Given the description of an element on the screen output the (x, y) to click on. 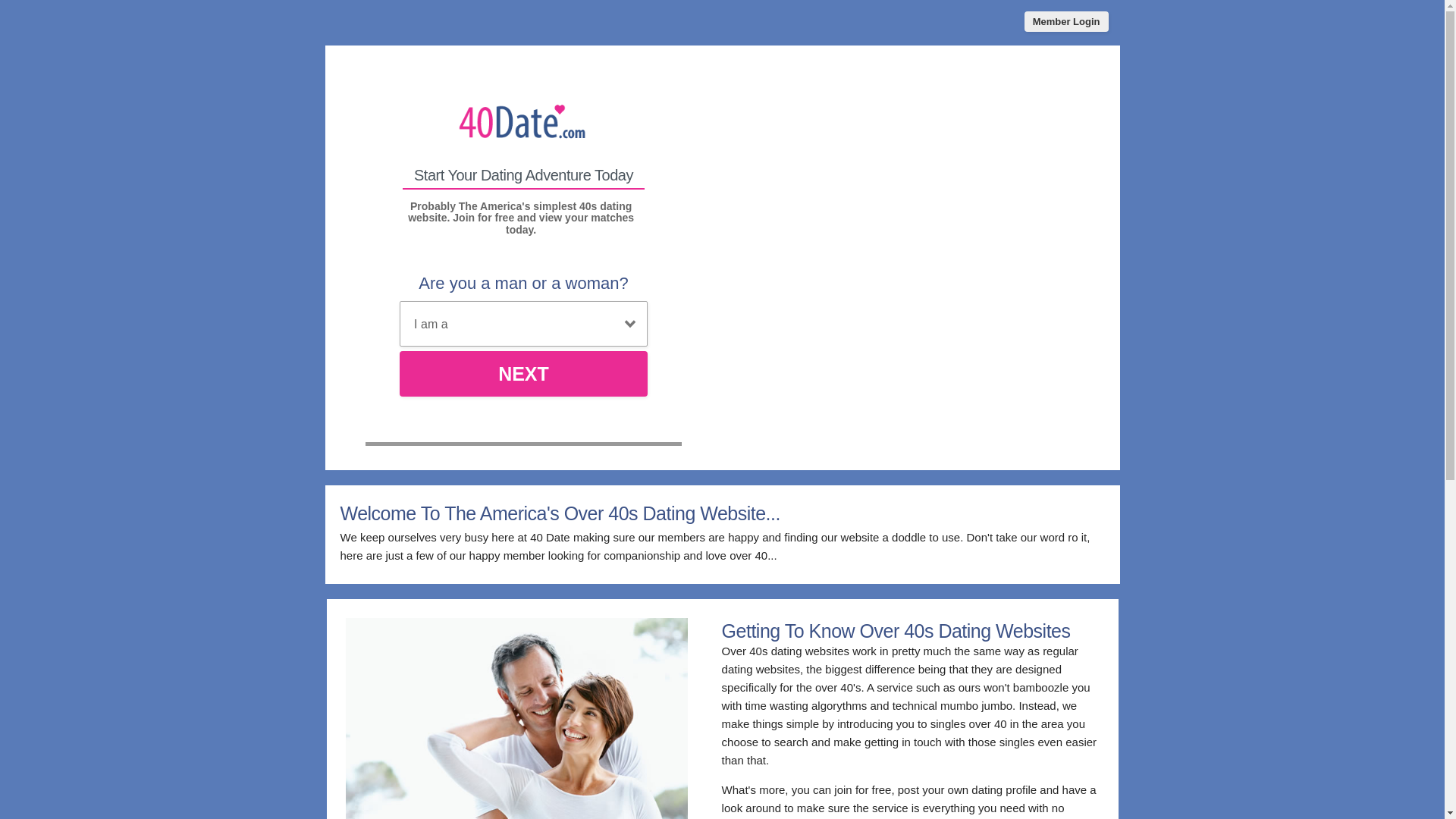
Member Login Element type: text (1066, 21)
NEXT Element type: text (523, 373)
Over 40 Dating - .co.uk Element type: hover (523, 122)
